Given the description of an element on the screen output the (x, y) to click on. 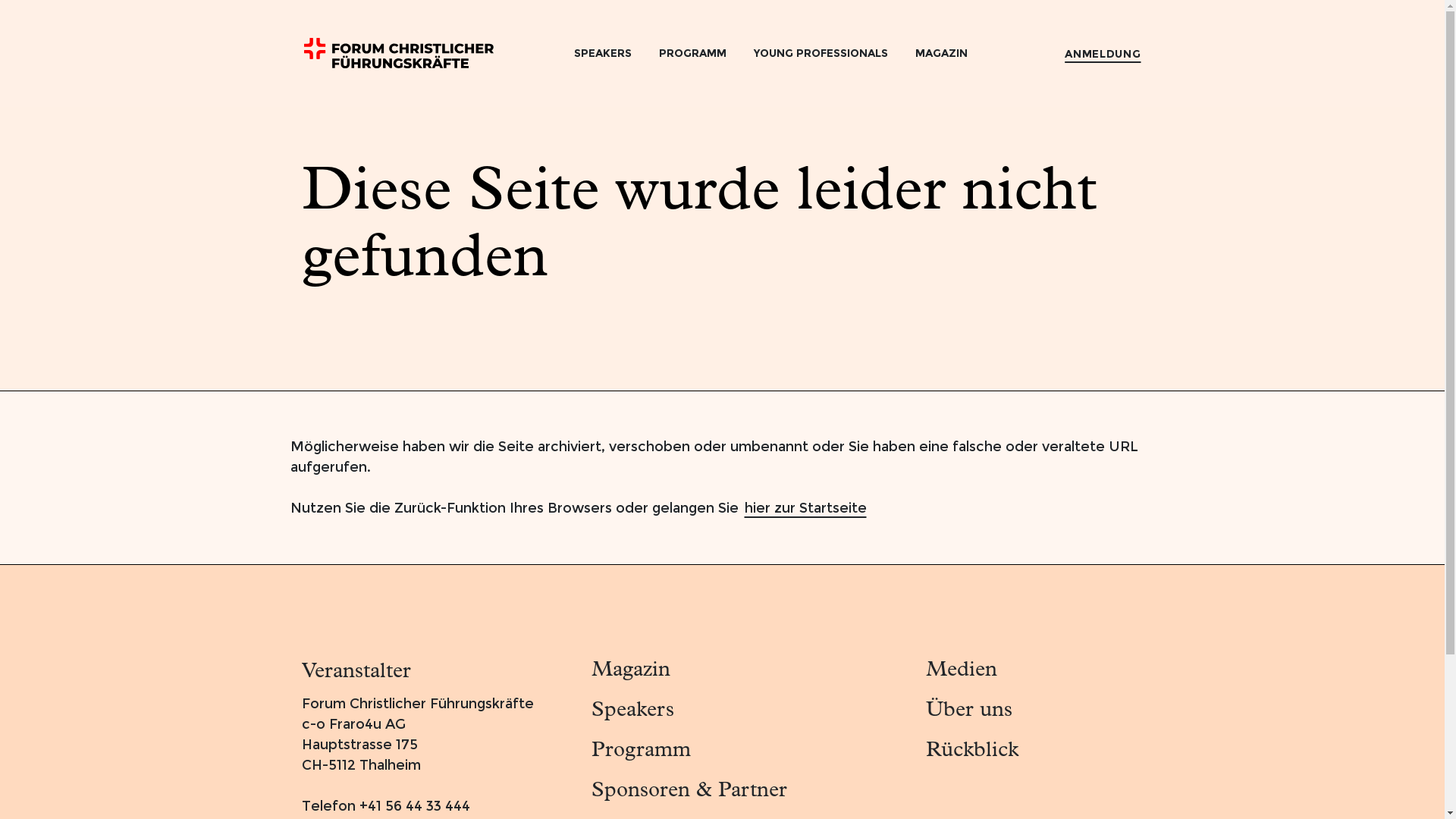
PROGRAMM Element type: text (692, 52)
Magazin Element type: text (750, 669)
Sponsoren & Partner Element type: text (750, 790)
SPEAKERS Element type: text (602, 52)
Speakers Element type: text (750, 710)
ANMELDUNG Element type: text (1102, 52)
YOUNG PROFESSIONALS Element type: text (819, 52)
hier zur Startseite Element type: text (804, 507)
MAGAZIN Element type: text (941, 52)
Programm Element type: text (750, 750)
Medien Element type: text (1033, 669)
